Given the description of an element on the screen output the (x, y) to click on. 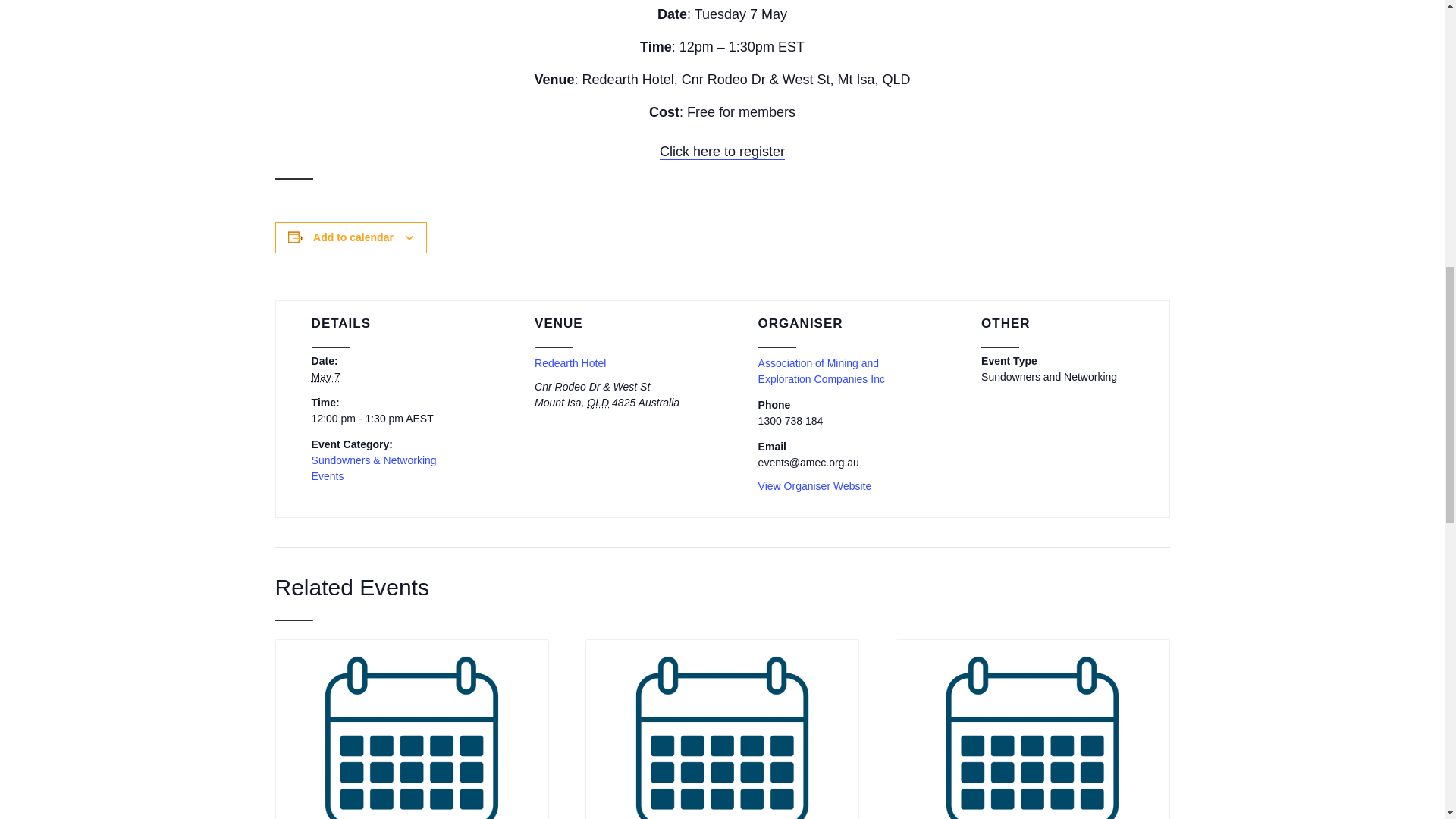
QLD (597, 402)
Association of Mining and Exploration Companies Inc (821, 370)
2024-05-07 (387, 418)
2024-05-07 (325, 377)
